Given the description of an element on the screen output the (x, y) to click on. 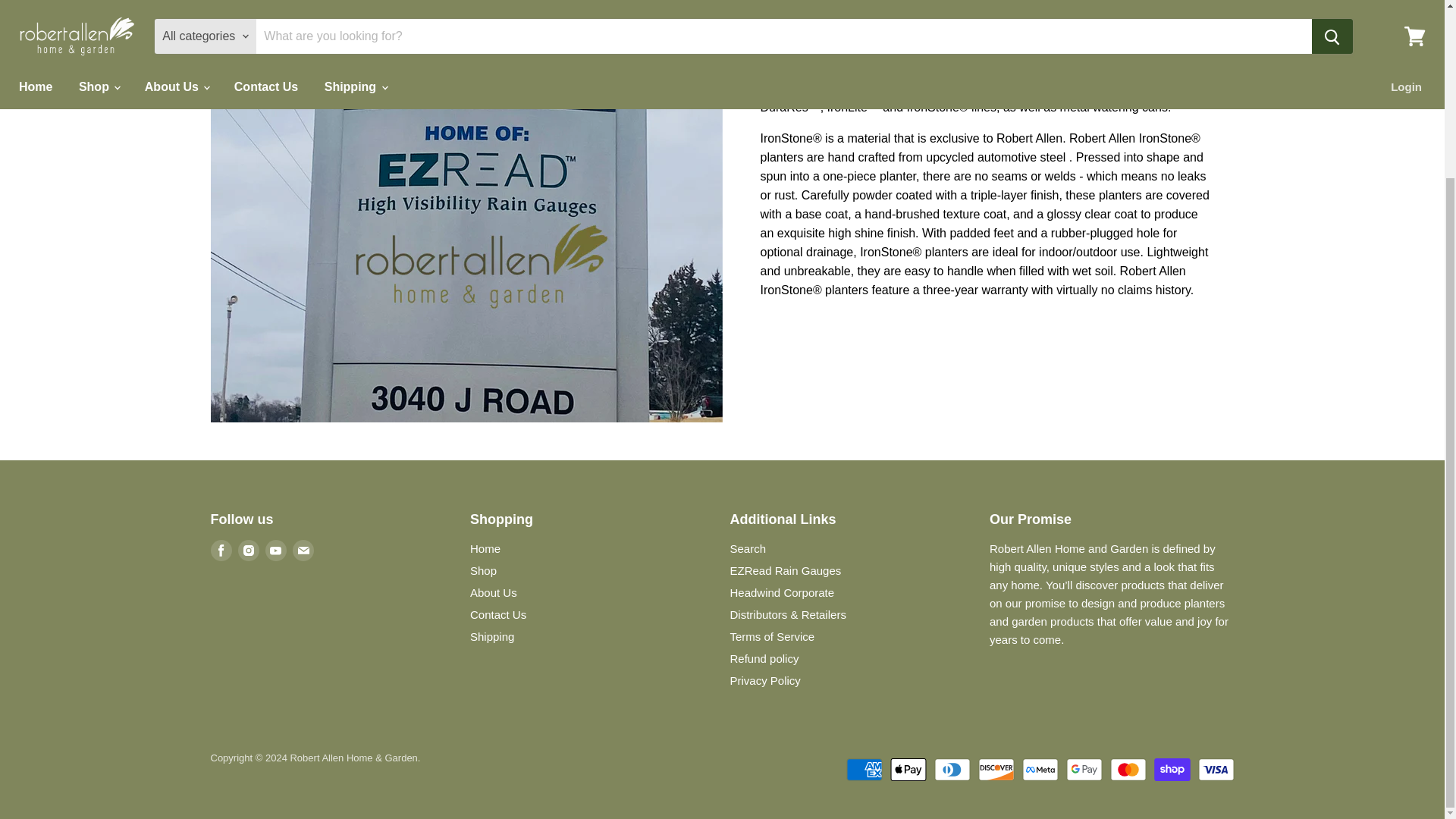
Google Pay (1083, 769)
Facebook (221, 550)
Visa (1216, 769)
Diners Club (952, 769)
Discover (996, 769)
Shop Pay (1172, 769)
Apple Pay (907, 769)
Meta Pay (1040, 769)
Youtube (275, 550)
Instagram (248, 550)
